Given the description of an element on the screen output the (x, y) to click on. 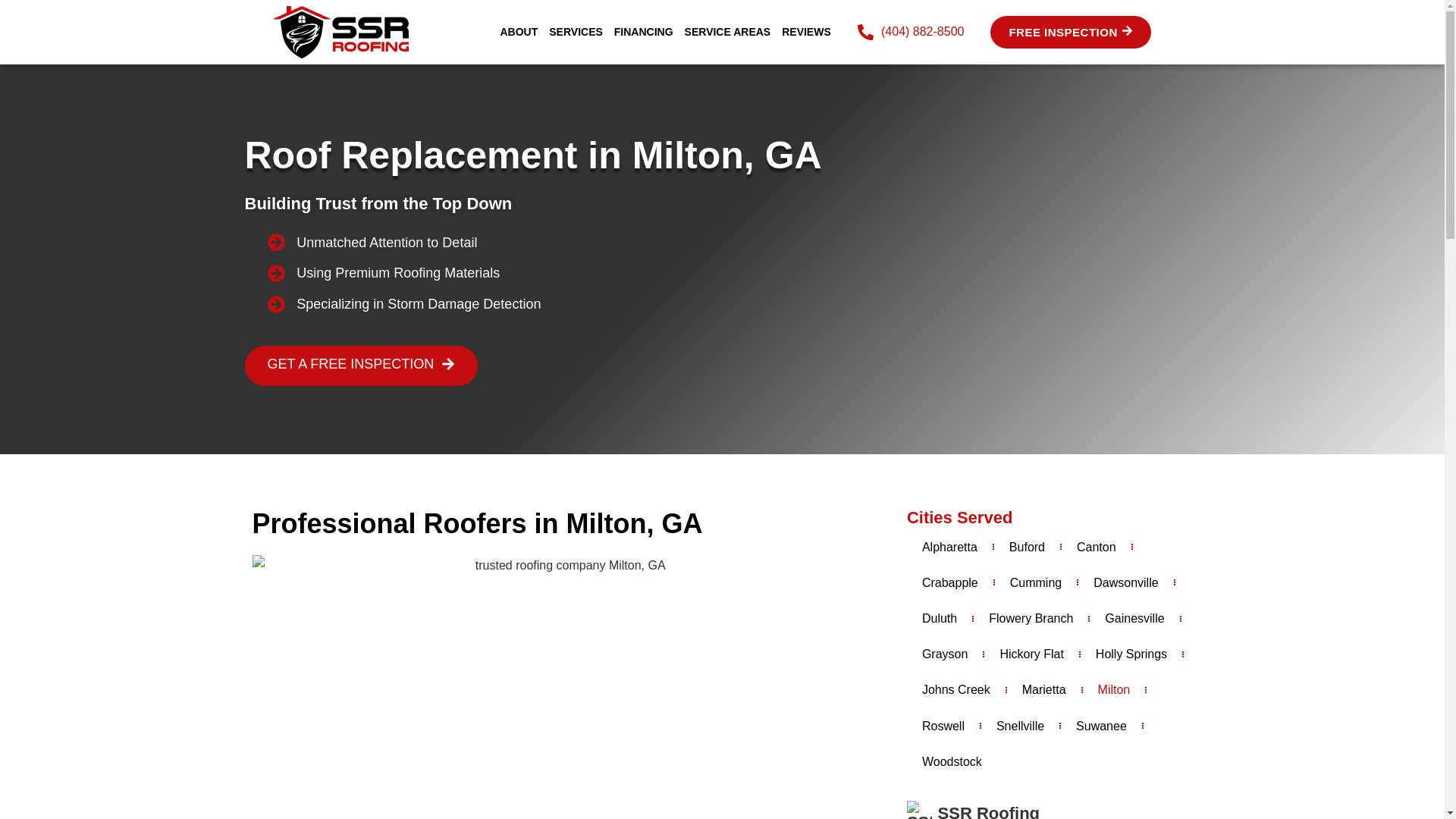
SERVICES (575, 31)
ABOUT (518, 31)
